Given the description of an element on the screen output the (x, y) to click on. 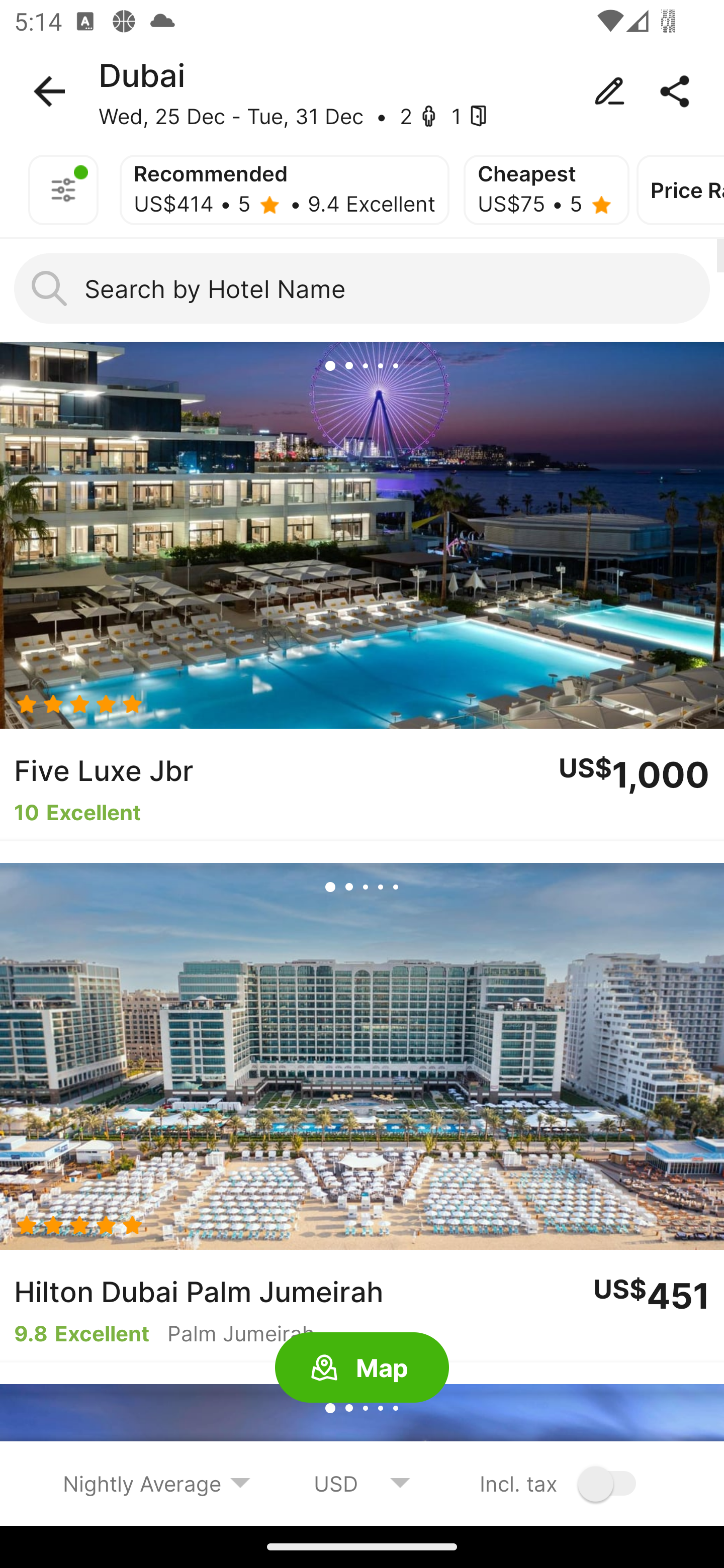
Dubai Wed, 25 Dec - Tue, 31 Dec  •  2 -  1 - (361, 91)
Recommended  US$414  • 5 - • 9.4 Excellent (284, 190)
Cheapest US$75  • 5 - (546, 190)
Price Range (680, 190)
Search by Hotel Name  (361, 288)
10.0 Five Luxe Jbr 10 Excellent (362, 590)
Map  (361, 1367)
Nightly Average (156, 1482)
USD (361, 1482)
